Given the description of an element on the screen output the (x, y) to click on. 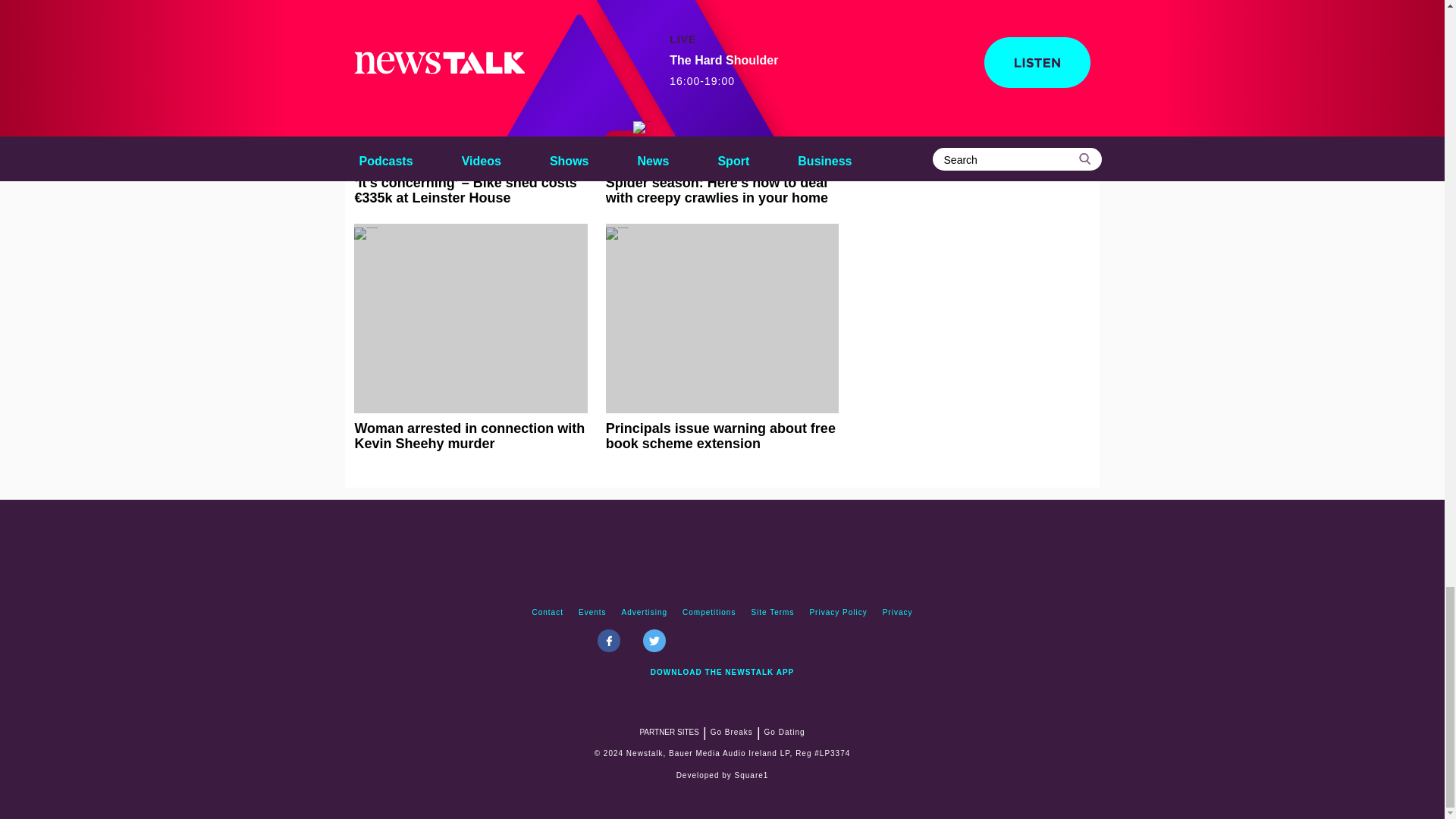
contact (547, 612)
Privacy Policy (838, 612)
events (592, 612)
competitions (708, 612)
Privacy (897, 612)
advertising (644, 612)
site terms (772, 612)
